Given the description of an element on the screen output the (x, y) to click on. 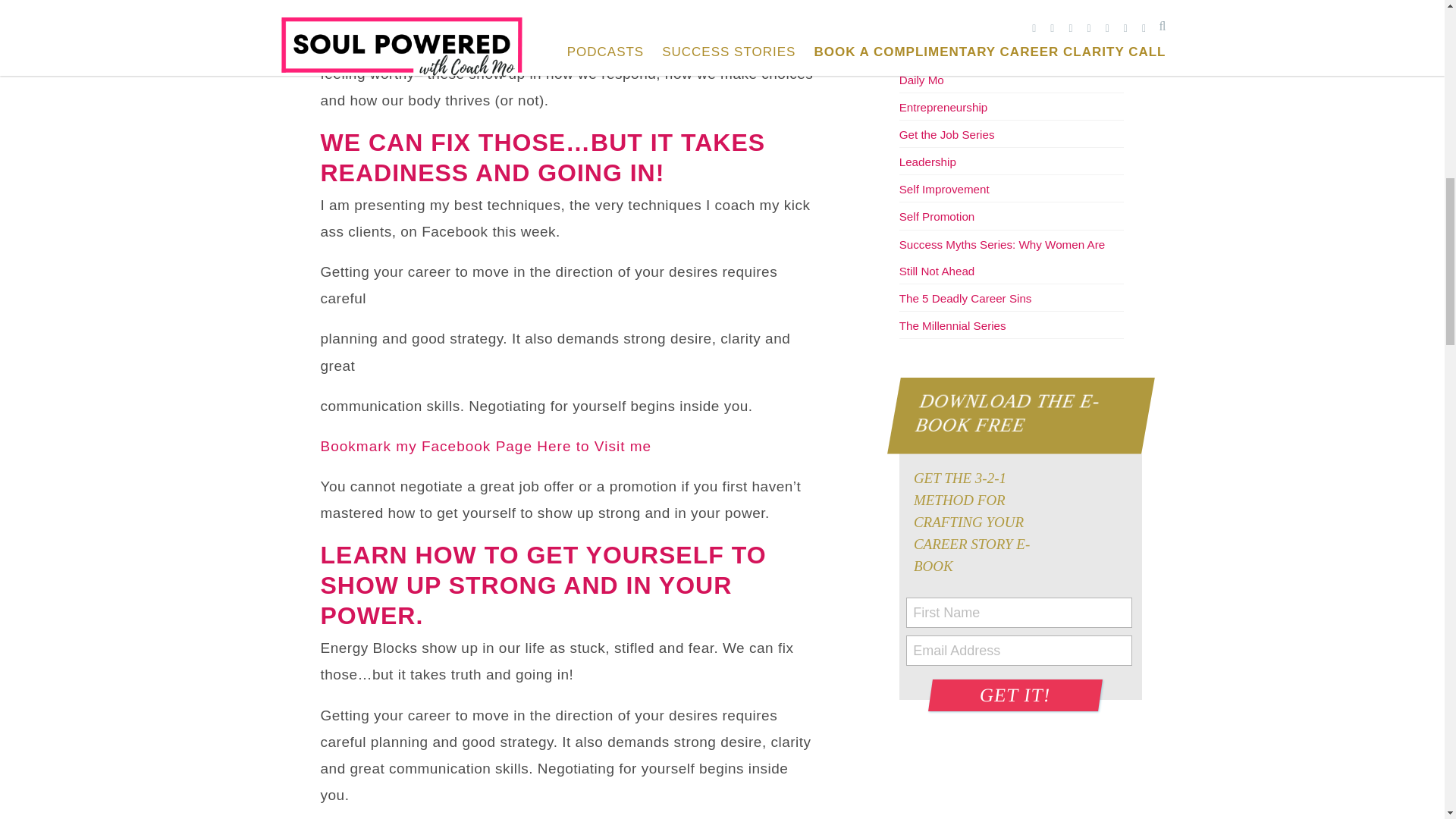
Client Interviews (941, 24)
Career Development (952, 2)
Self Promotion (937, 215)
Bookmark my Facebook Page Here to Visit me  (488, 446)
Get the Job Series (946, 133)
Creating to Your Kickass Career (980, 51)
GET IT! (1012, 695)
Leadership (927, 161)
Daily Mo (921, 79)
Self Improvement (944, 188)
